Given the description of an element on the screen output the (x, y) to click on. 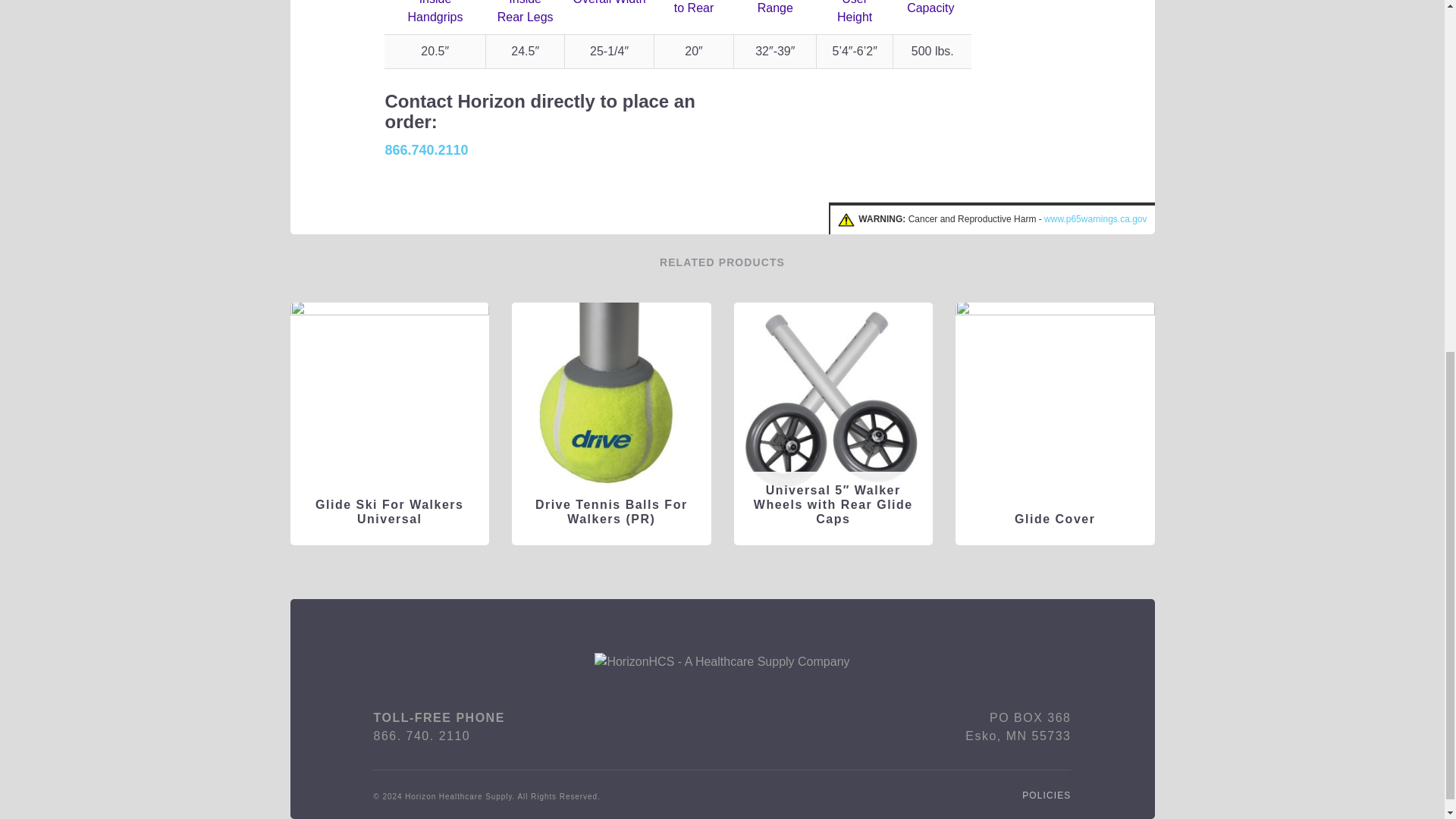
Glide Cover (1054, 518)
Glide Ski For Walkers Universal (389, 511)
866.740.2110 (425, 150)
